Given the description of an element on the screen output the (x, y) to click on. 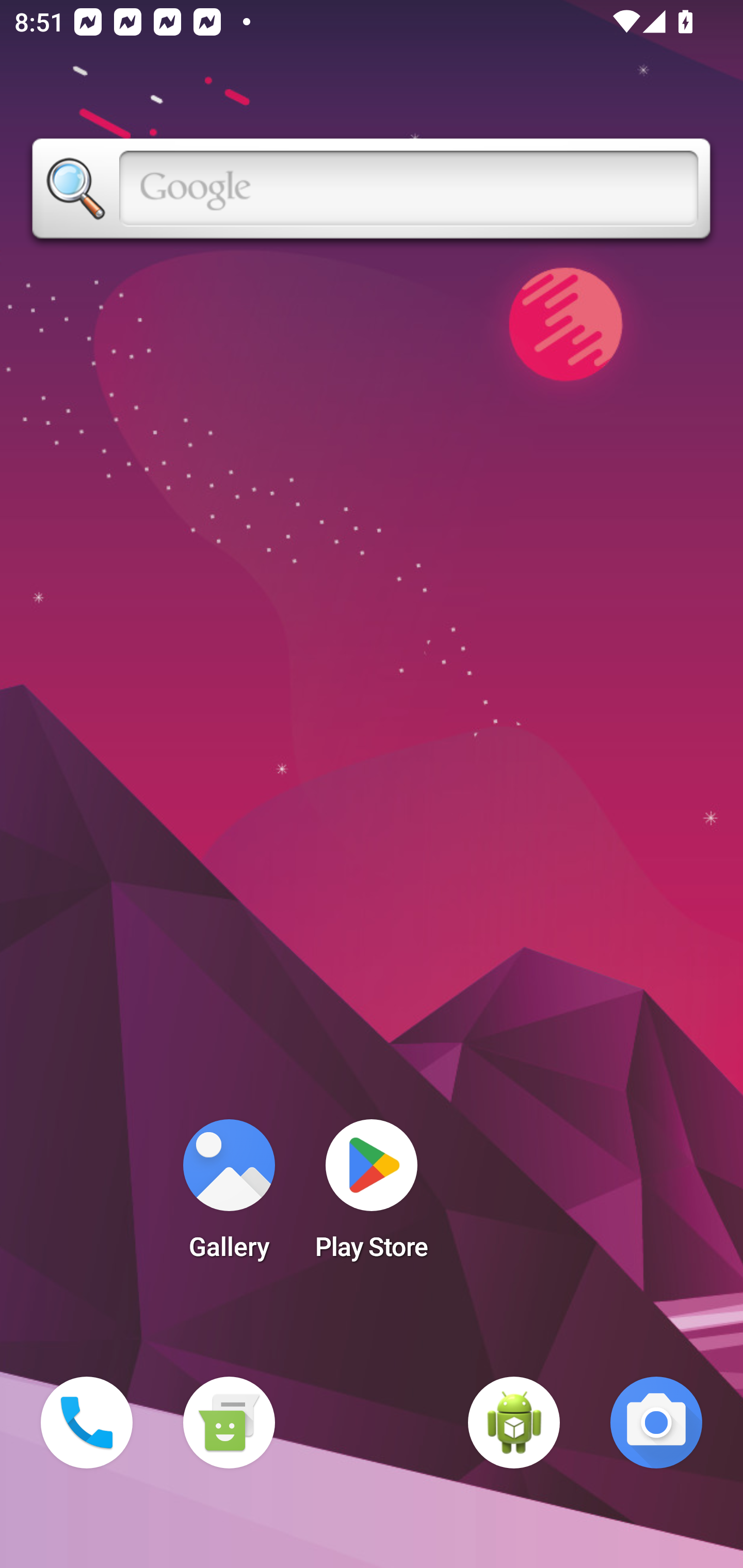
Gallery (228, 1195)
Play Store (371, 1195)
Phone (86, 1422)
Messaging (228, 1422)
WebView Browser Tester (513, 1422)
Camera (656, 1422)
